Given the description of an element on the screen output the (x, y) to click on. 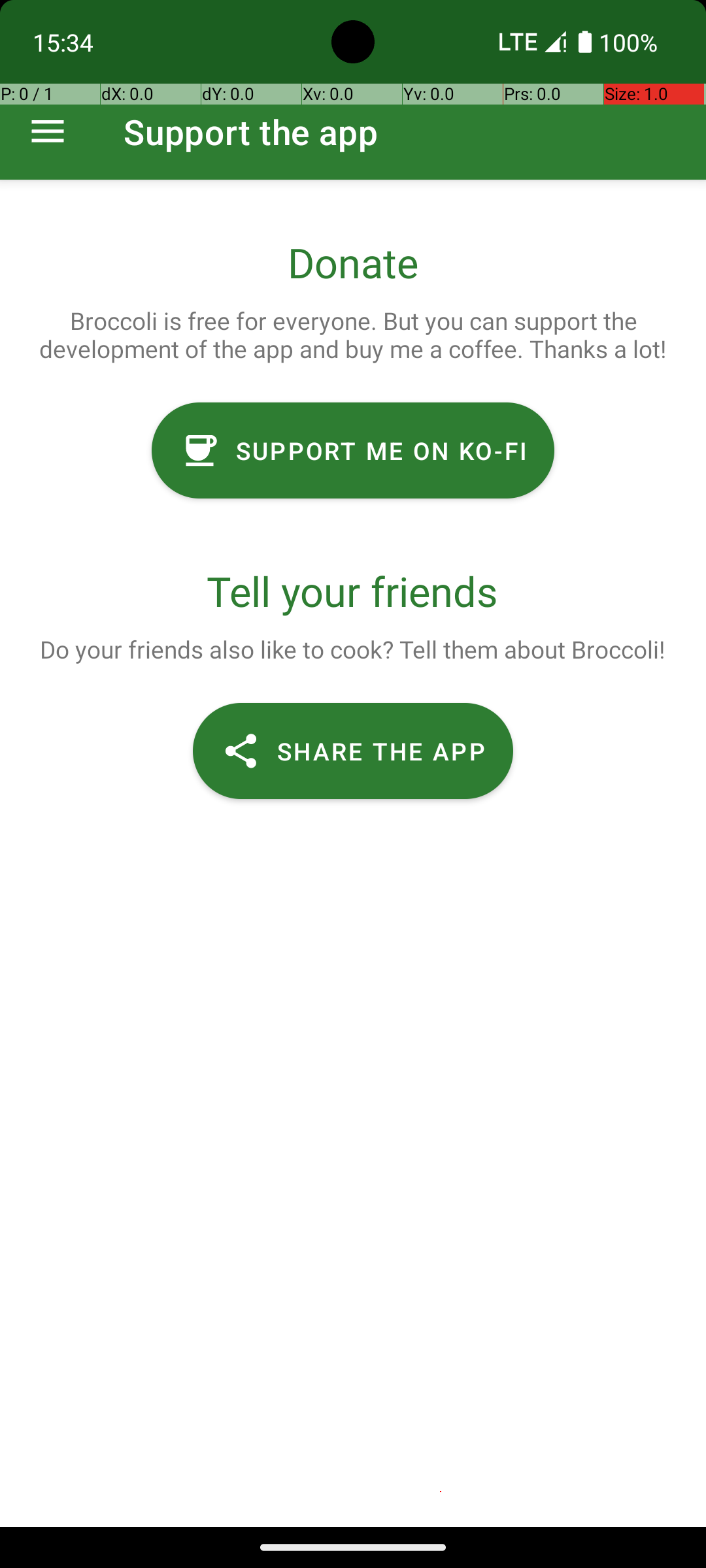
Broccoli is free for everyone. But you can support the development of the app and buy me a coffee. Thanks a lot! Element type: android.widget.TextView (352, 334)
SUPPORT ME ON KO-FI Element type: android.widget.Button (352, 450)
Tell your friends Element type: android.widget.TextView (352, 590)
Do your friends also like to cook? Tell them about Broccoli! Element type: android.widget.TextView (352, 648)
SHARE THE APP Element type: android.widget.Button (352, 750)
